Given the description of an element on the screen output the (x, y) to click on. 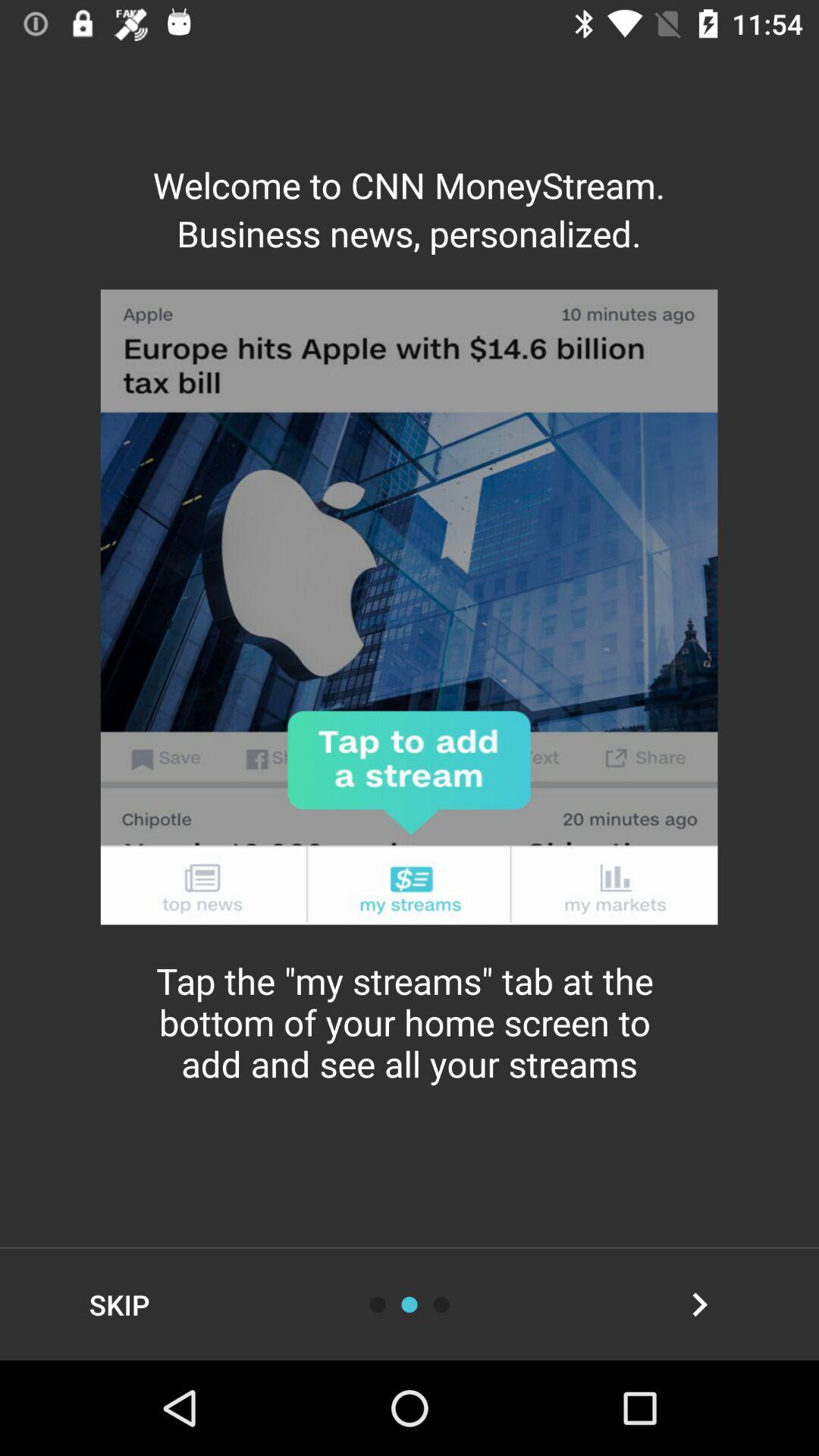
launch item at the bottom left corner (119, 1304)
